Given the description of an element on the screen output the (x, y) to click on. 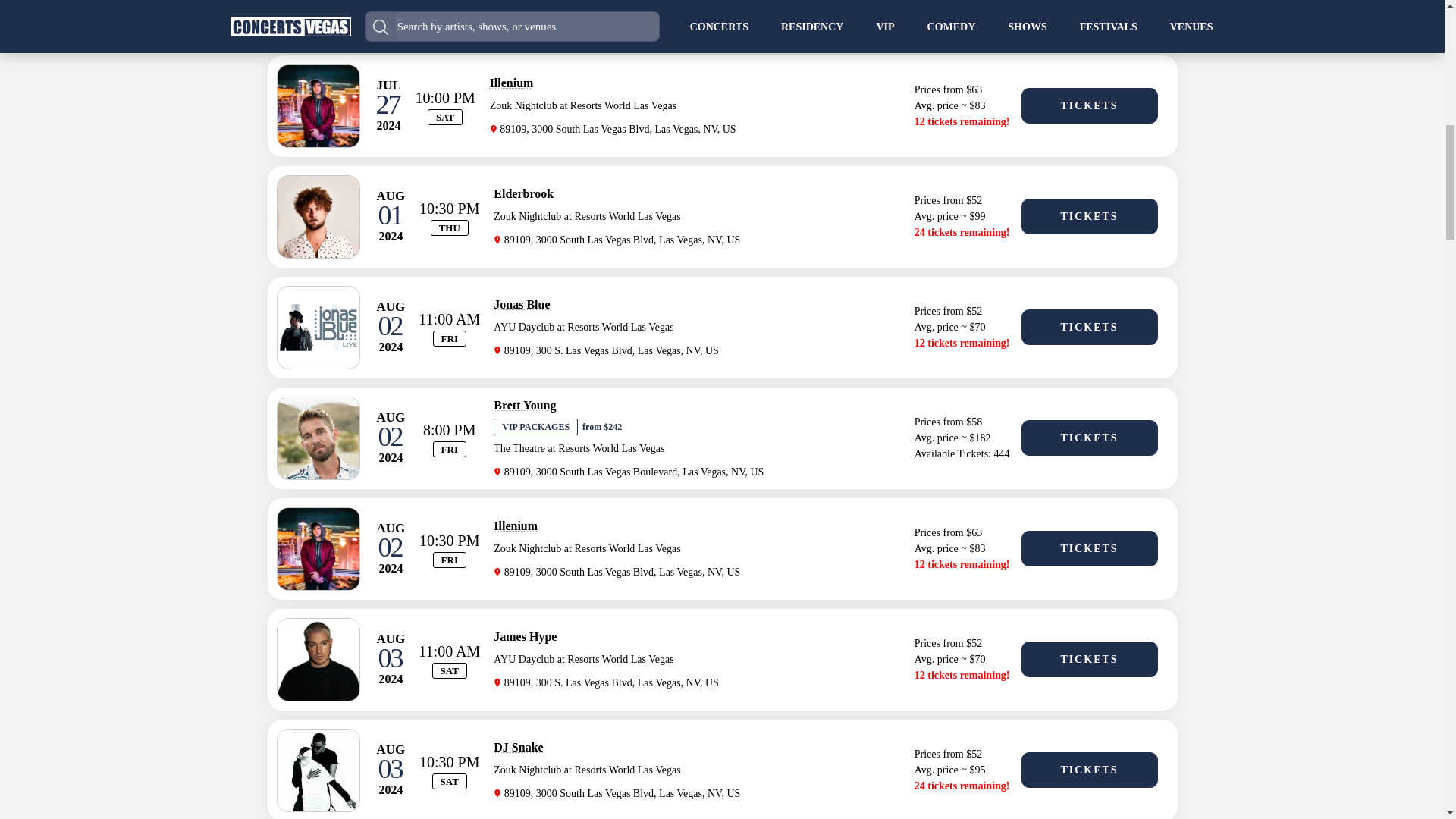
TICKETS (1088, 105)
VIP PACKAGES (535, 426)
James Hype (524, 635)
TICKETS (1088, 548)
TICKETS (1088, 216)
TICKETS (1088, 326)
Elderbrook (523, 193)
TICKETS (1088, 437)
Illenium (511, 82)
Jonas Blue (521, 304)
Brett Young (524, 404)
Illenium (515, 525)
TICKETS (1088, 6)
